Given the description of an element on the screen output the (x, y) to click on. 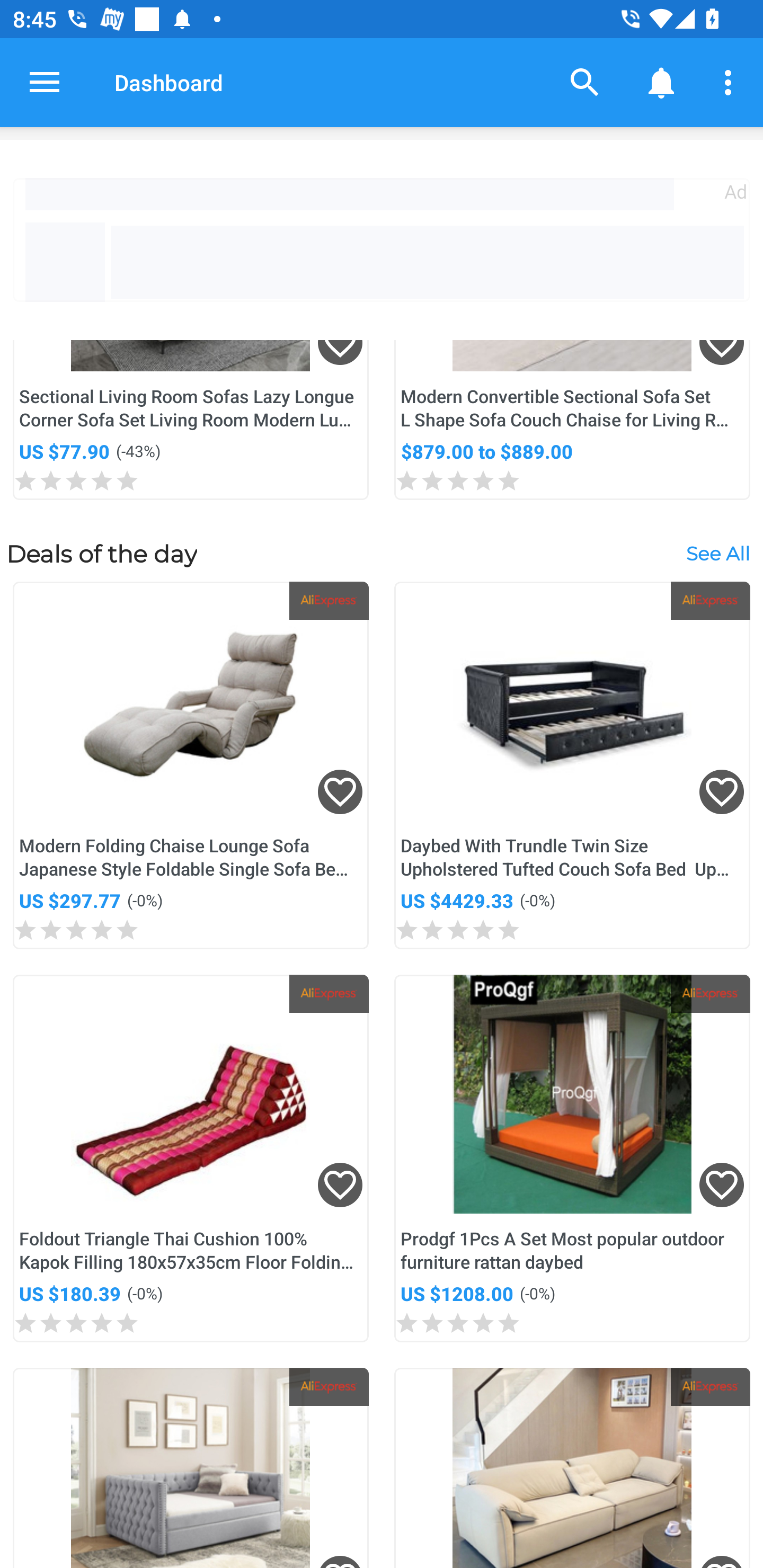
Open navigation drawer (44, 82)
Search (585, 81)
More options (731, 81)
See All (717, 553)
